Given the description of an element on the screen output the (x, y) to click on. 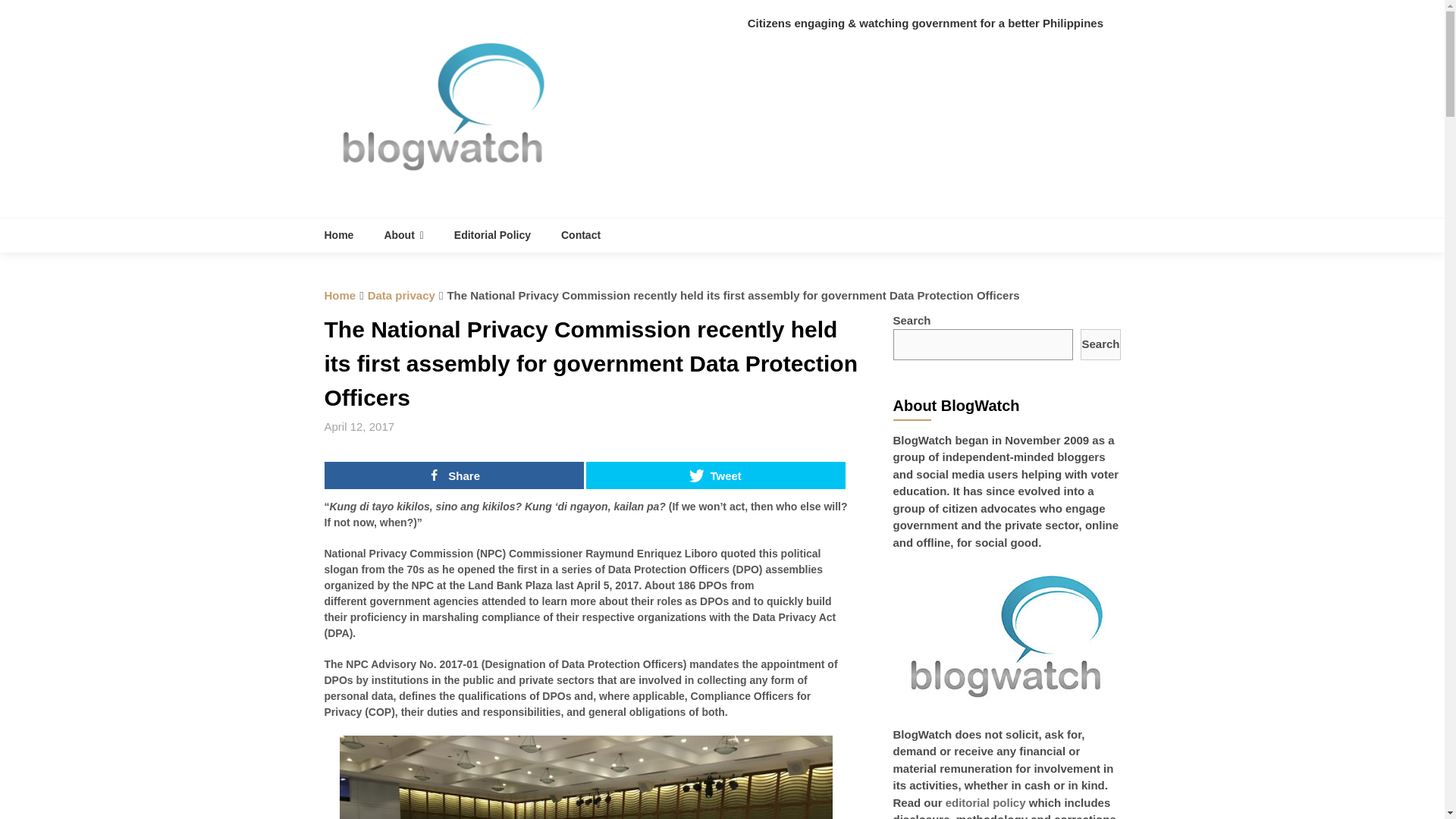
Share (453, 474)
Tweet (715, 474)
Contact (580, 235)
editorial policy (985, 802)
About (403, 235)
Home (340, 295)
Editorial Policy (492, 235)
Data privacy (401, 295)
Search (1099, 344)
Home (346, 235)
